Given the description of an element on the screen output the (x, y) to click on. 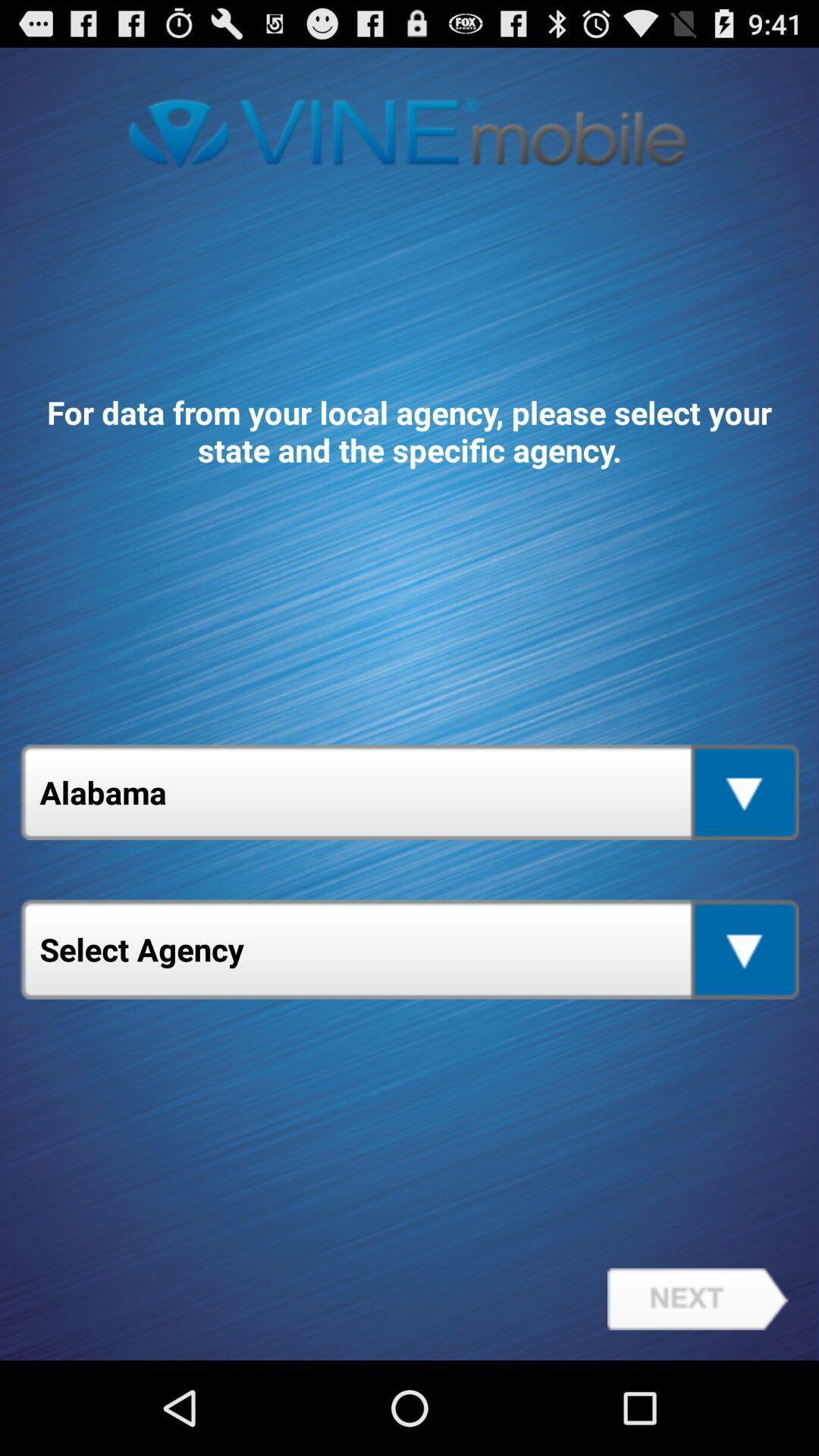
tap the alabama item (409, 792)
